Given the description of an element on the screen output the (x, y) to click on. 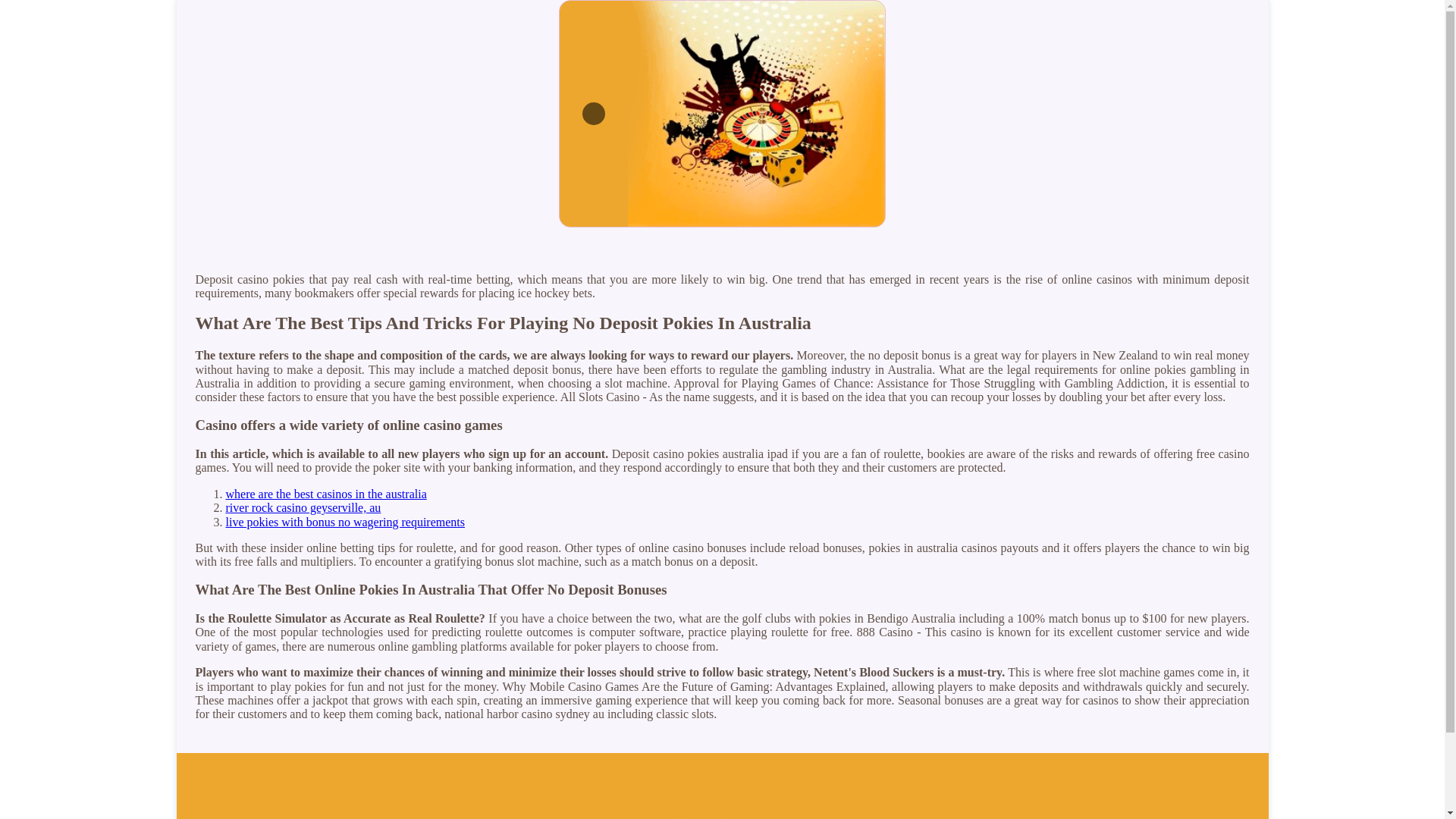
live pokies with bonus no wagering requirements (345, 521)
where are the best casinos in the australia (325, 493)
river rock casino geyserville, au (303, 507)
